Given the description of an element on the screen output the (x, y) to click on. 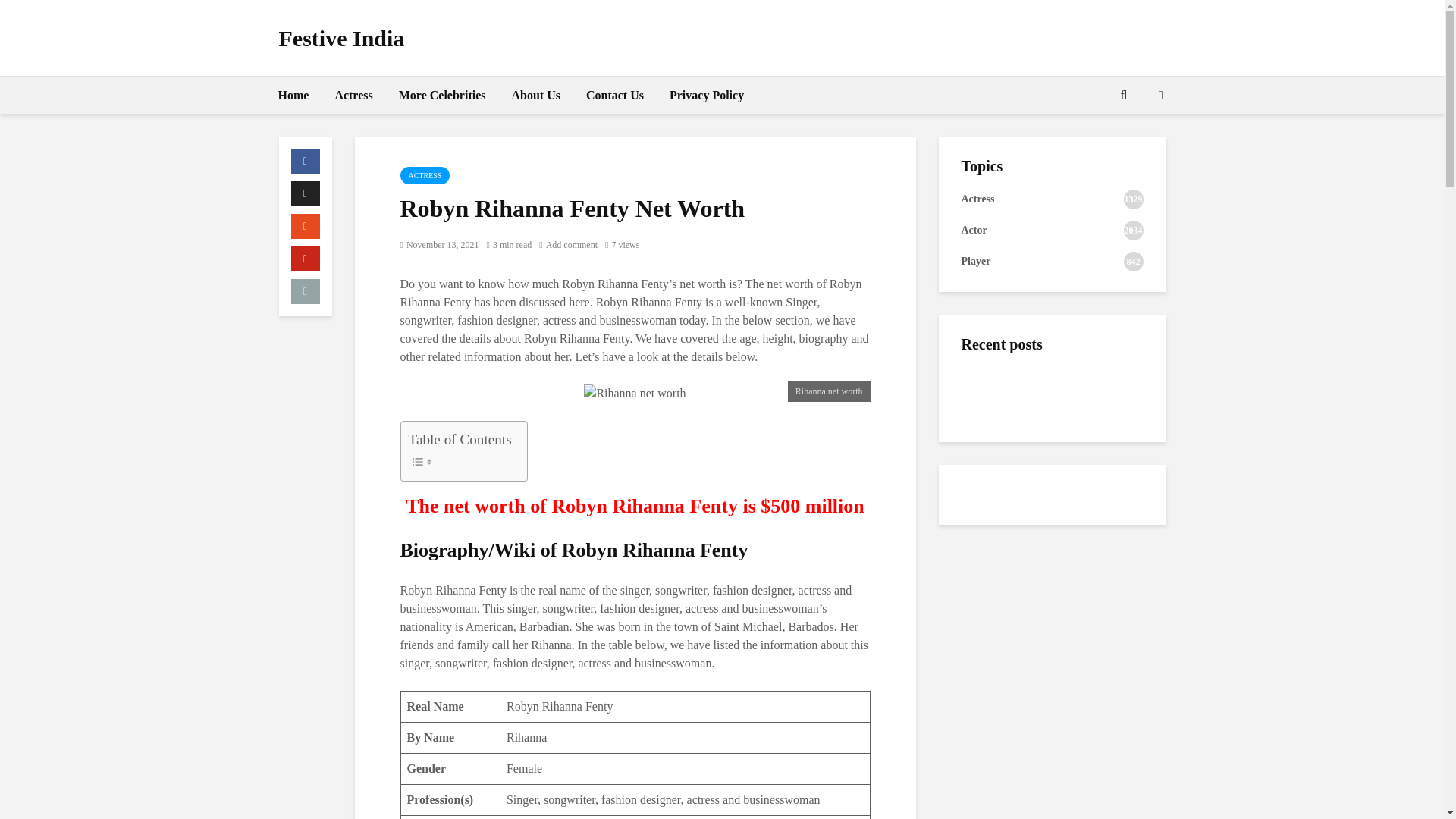
Home (293, 95)
Contact Us (615, 95)
Privacy Policy (706, 95)
Add comment (567, 244)
About Us (536, 95)
More Celebrities (442, 95)
Festive India (341, 37)
ACTRESS (424, 175)
Actress (353, 95)
